Given the description of an element on the screen output the (x, y) to click on. 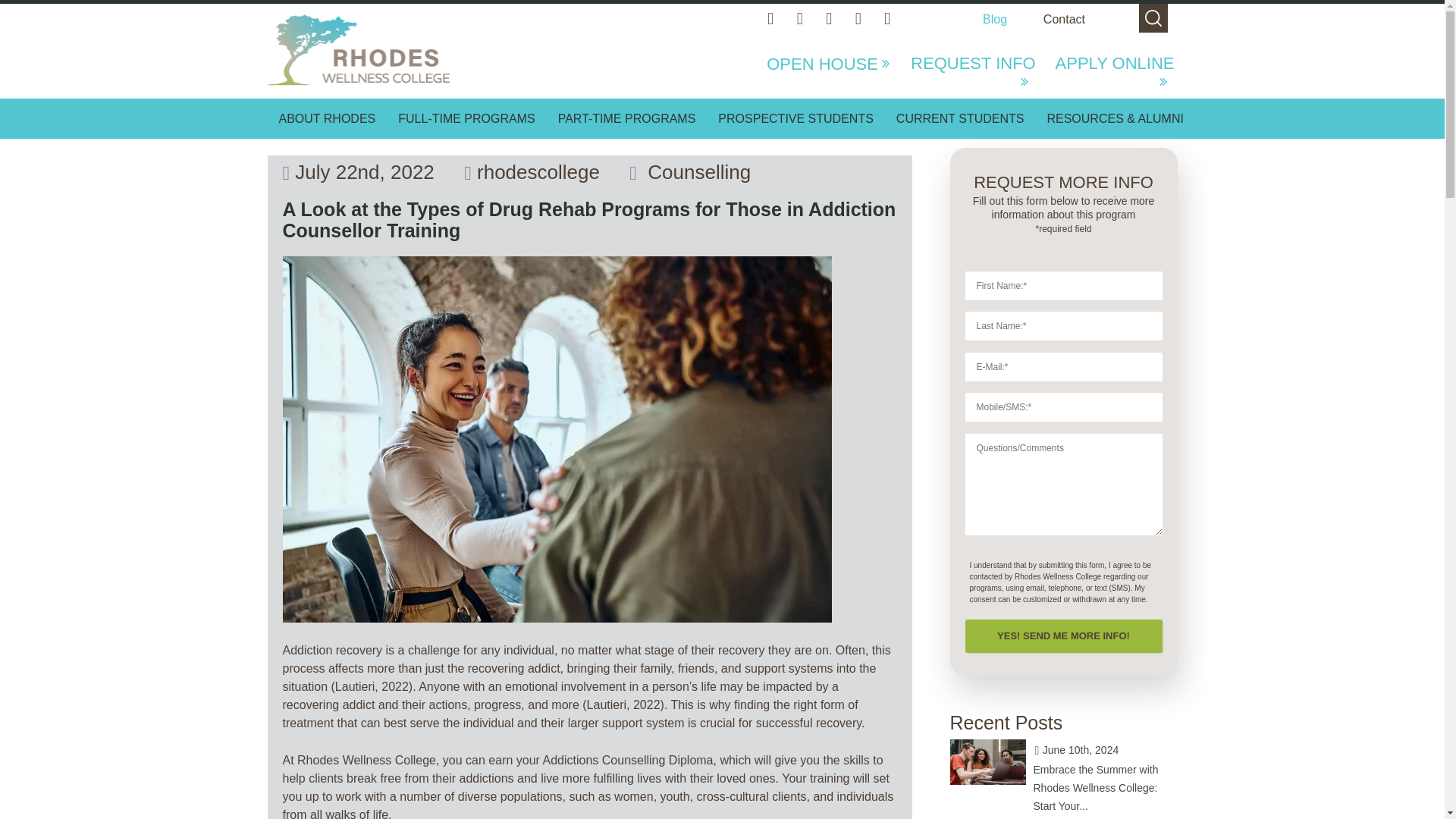
Search for: (1153, 18)
OPEN HOUSE (829, 73)
Blog (994, 19)
APPLY ONLINE (1107, 73)
REQUEST INFO (968, 73)
FULL-TIME PROGRAMS (466, 118)
Contact (1063, 19)
Search (25, 11)
ABOUT RHODES (326, 118)
YES! SEND ME MORE INFO! (1062, 635)
